Given the description of an element on the screen output the (x, y) to click on. 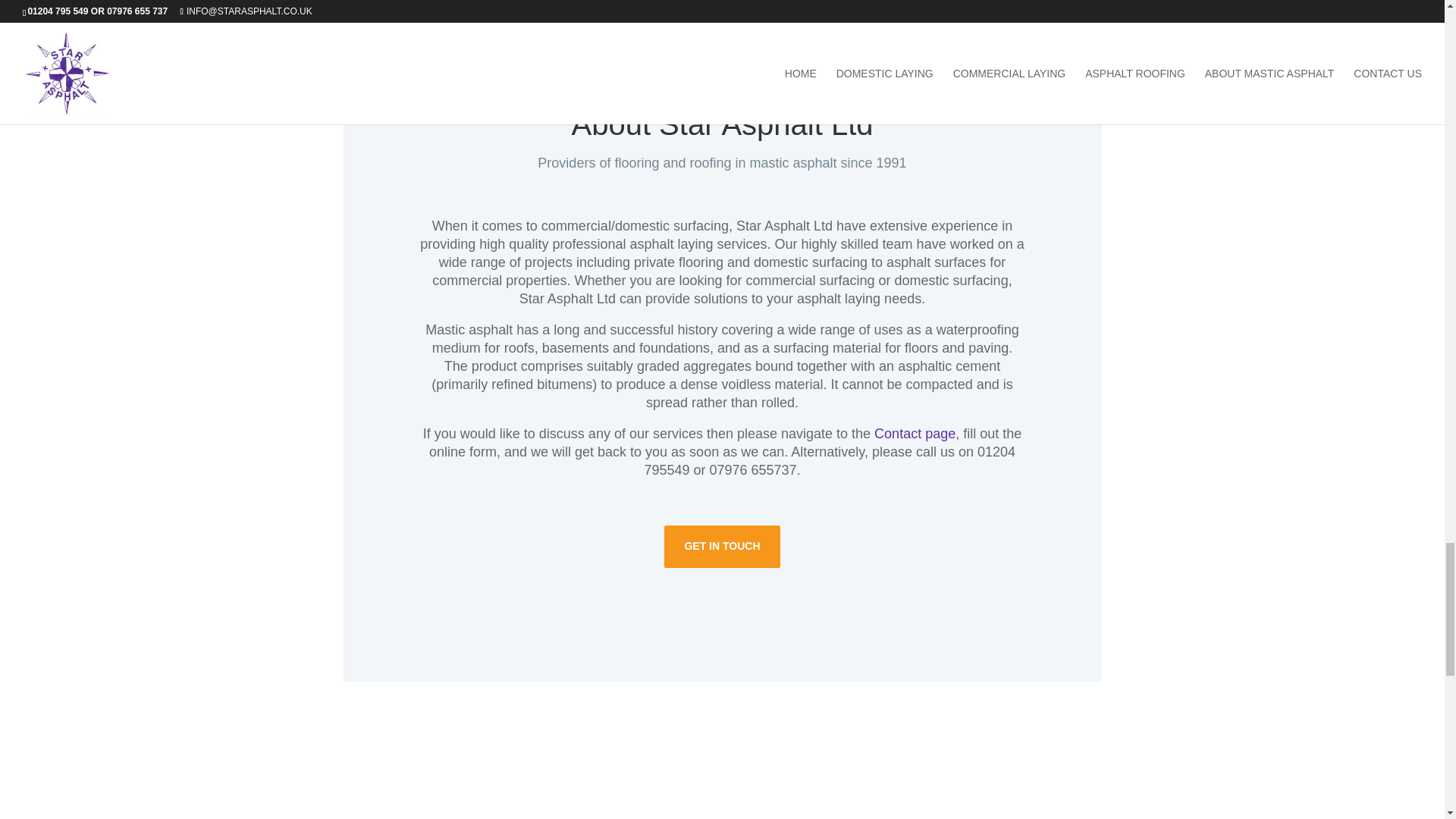
GET IN TOUCH (720, 546)
Contact page (915, 433)
